Given the description of an element on the screen output the (x, y) to click on. 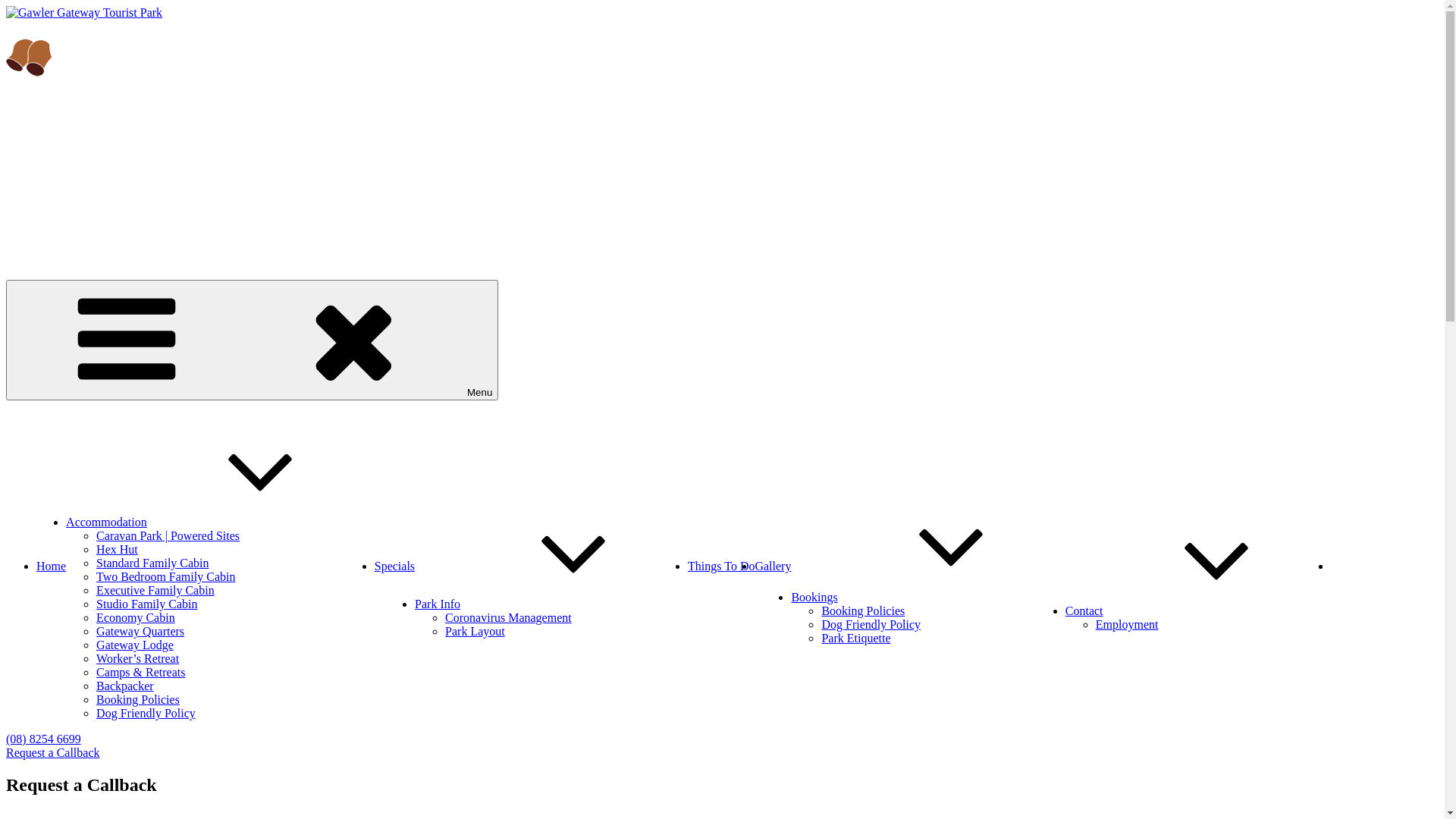
Park Layout Element type: text (475, 630)
Gateway Quarters Element type: text (140, 630)
Things To Do Element type: text (720, 565)
Backpacker Element type: text (124, 685)
Gallery Element type: text (772, 565)
Accommodation Element type: text (219, 521)
Studio Family Cabin Element type: text (146, 603)
Bookings Element type: text (927, 596)
Standard Family Cabin Element type: text (152, 562)
Employment Element type: text (1126, 624)
Dog Friendly Policy Element type: text (145, 712)
Park Info Element type: text (550, 603)
Booking Policies Element type: text (137, 699)
Booking Policies Element type: text (862, 610)
Caravan Park | Powered Sites Element type: text (167, 535)
Camps & Retreats Element type: text (140, 671)
Gateway Lodge Element type: text (134, 644)
(08) 8254 6699 Element type: text (43, 738)
Gawler Gateway Tourist Park Element type: text (78, 37)
Two Bedroom Family Cabin Element type: text (165, 576)
Executive Family Cabin Element type: text (155, 589)
Skip to content Element type: text (5, 5)
Coronavirus Management Element type: text (508, 617)
Hex Hut Element type: text (117, 548)
Contact Element type: text (1197, 610)
Economy Cabin Element type: text (135, 617)
Park Etiquette Element type: text (855, 637)
Request a Callback Element type: text (53, 752)
Menu Element type: text (252, 339)
Dog Friendly Policy Element type: text (870, 624)
Specials Element type: text (394, 565)
Home Element type: text (50, 565)
